Given the description of an element on the screen output the (x, y) to click on. 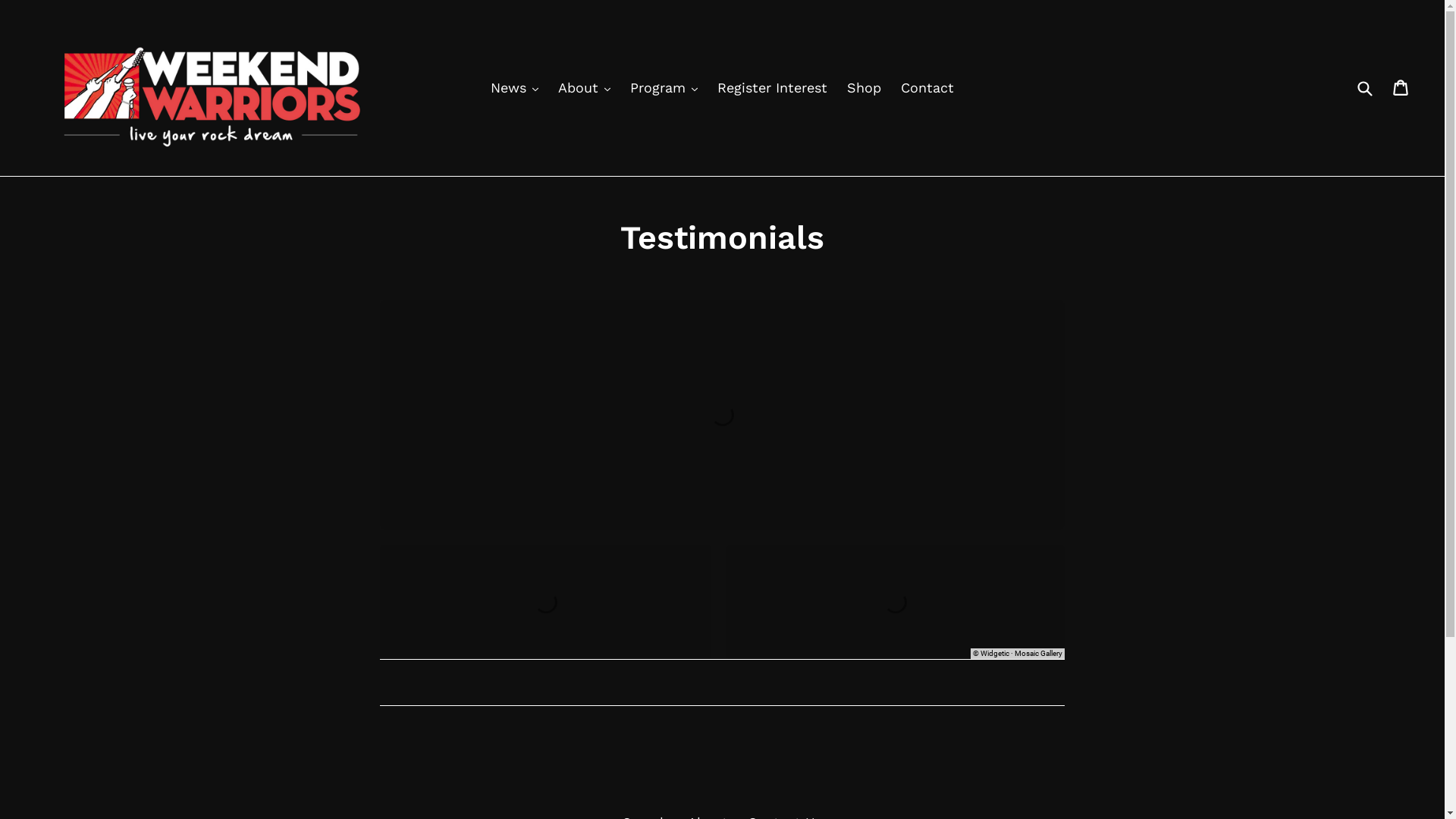
Shop Element type: text (863, 87)
Contact Element type: text (927, 87)
Submit Element type: text (1363, 87)
Register Interest Element type: text (771, 87)
Cart Element type: text (1401, 88)
